Given the description of an element on the screen output the (x, y) to click on. 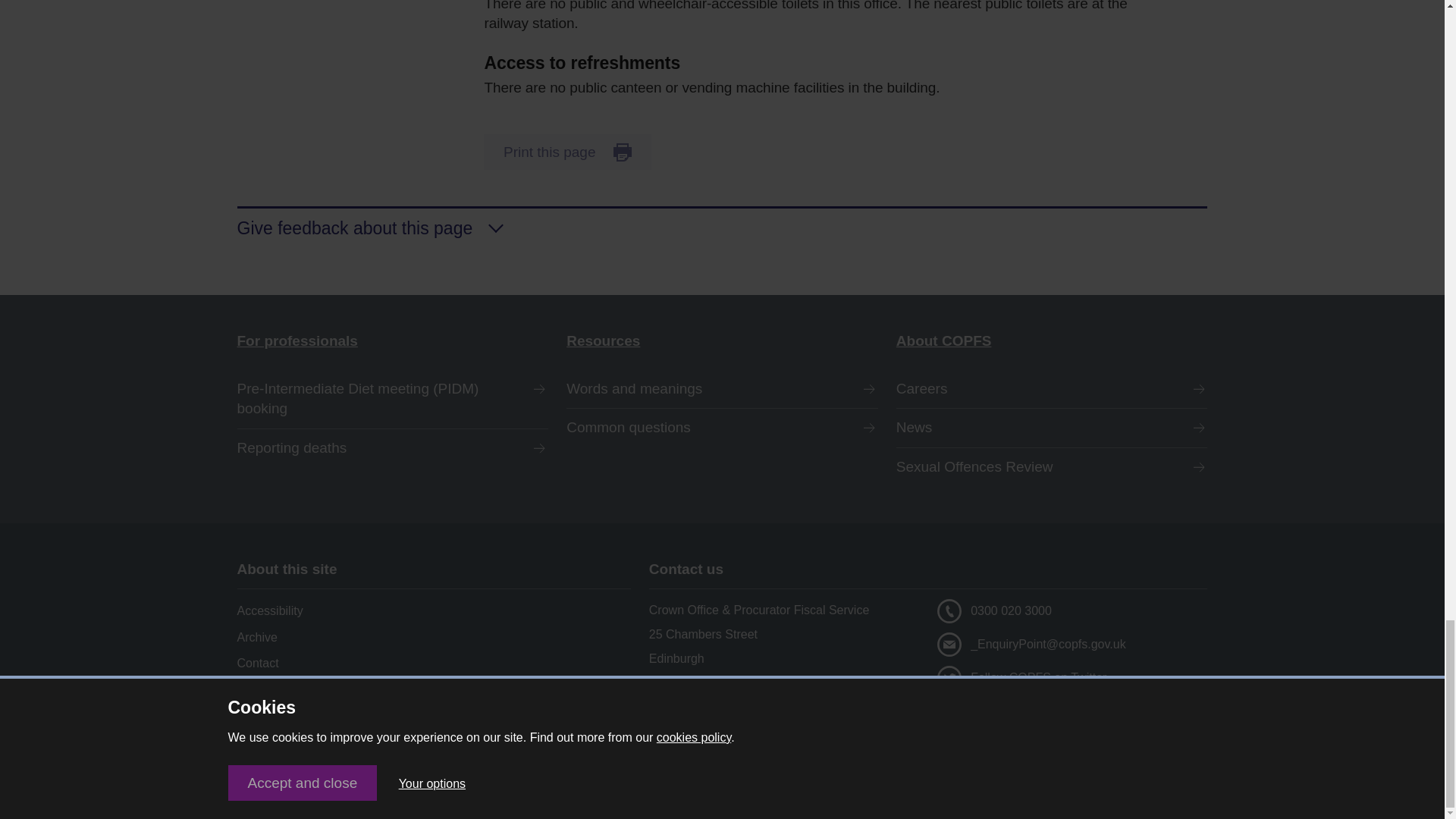
Resources (721, 341)
Sexual Offences Review (1052, 466)
News (1052, 427)
About COPFS (1052, 341)
Careers (1052, 389)
Print this page (566, 151)
For professionals (391, 341)
Common questions (721, 427)
Give feedback about this page (721, 223)
Reporting deaths (391, 448)
